Given the description of an element on the screen output the (x, y) to click on. 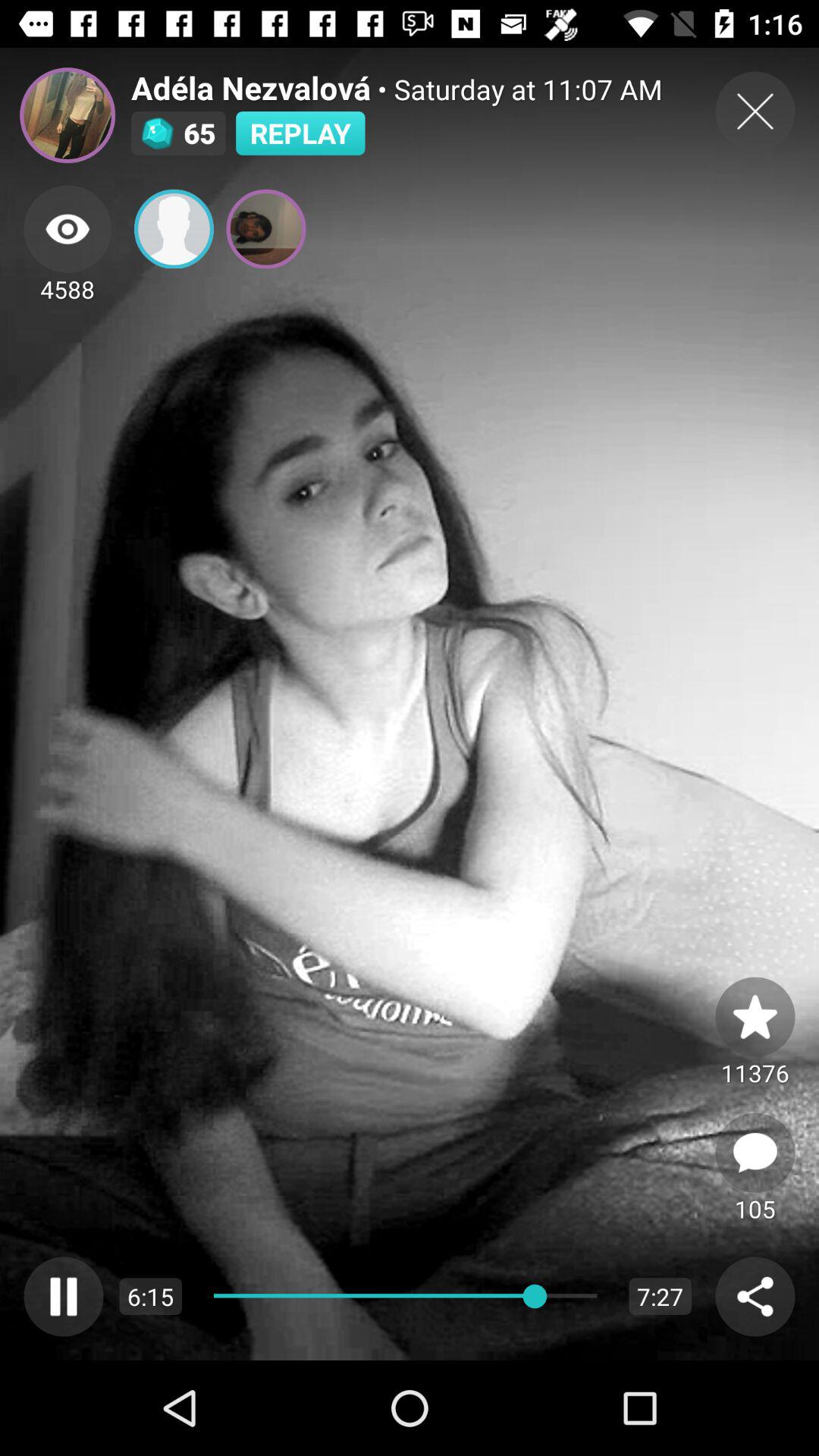
share video (755, 1296)
